Given the description of an element on the screen output the (x, y) to click on. 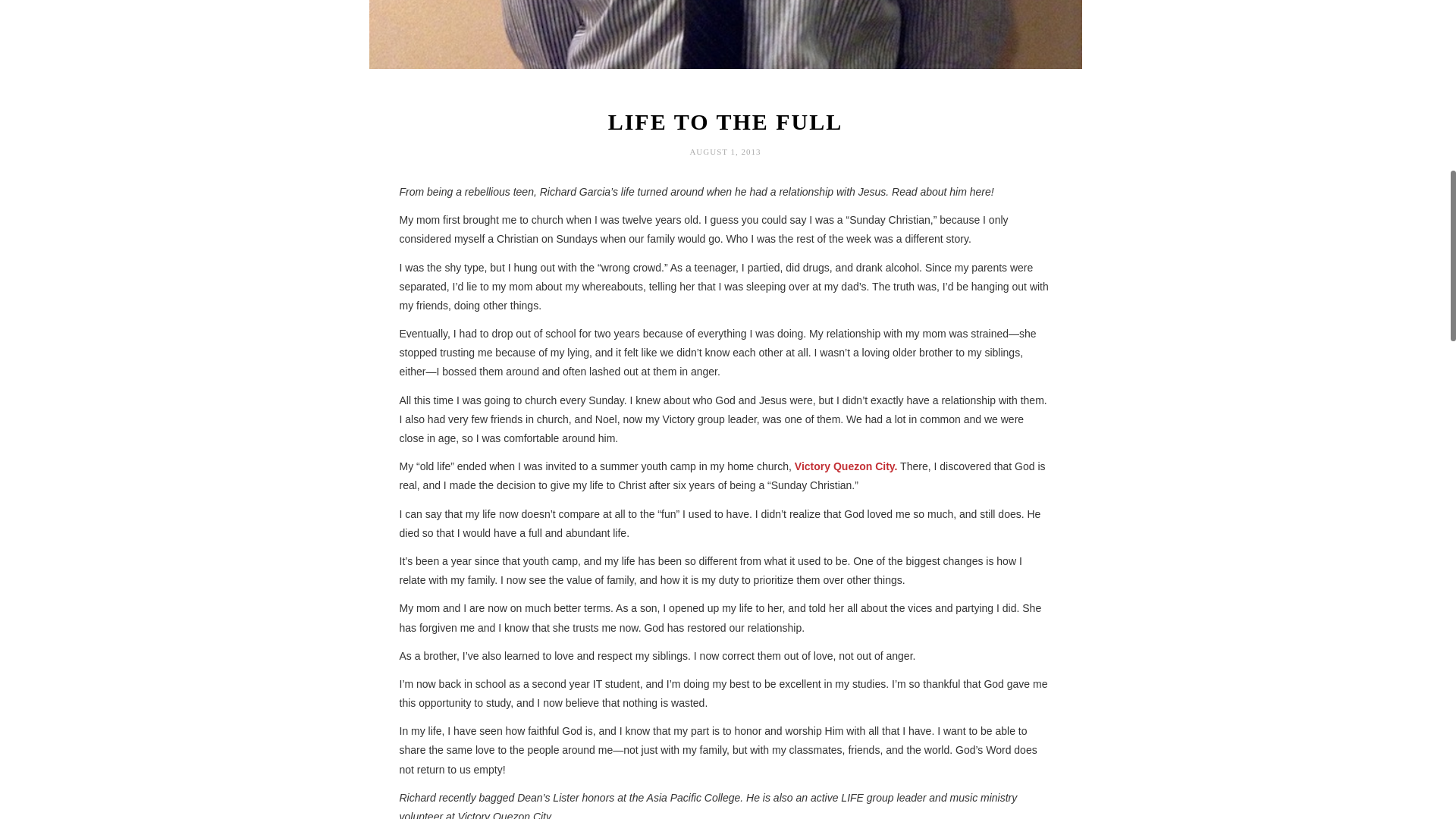
Victory Quezon City. (846, 466)
Victory Quezon City (846, 466)
